Given the description of an element on the screen output the (x, y) to click on. 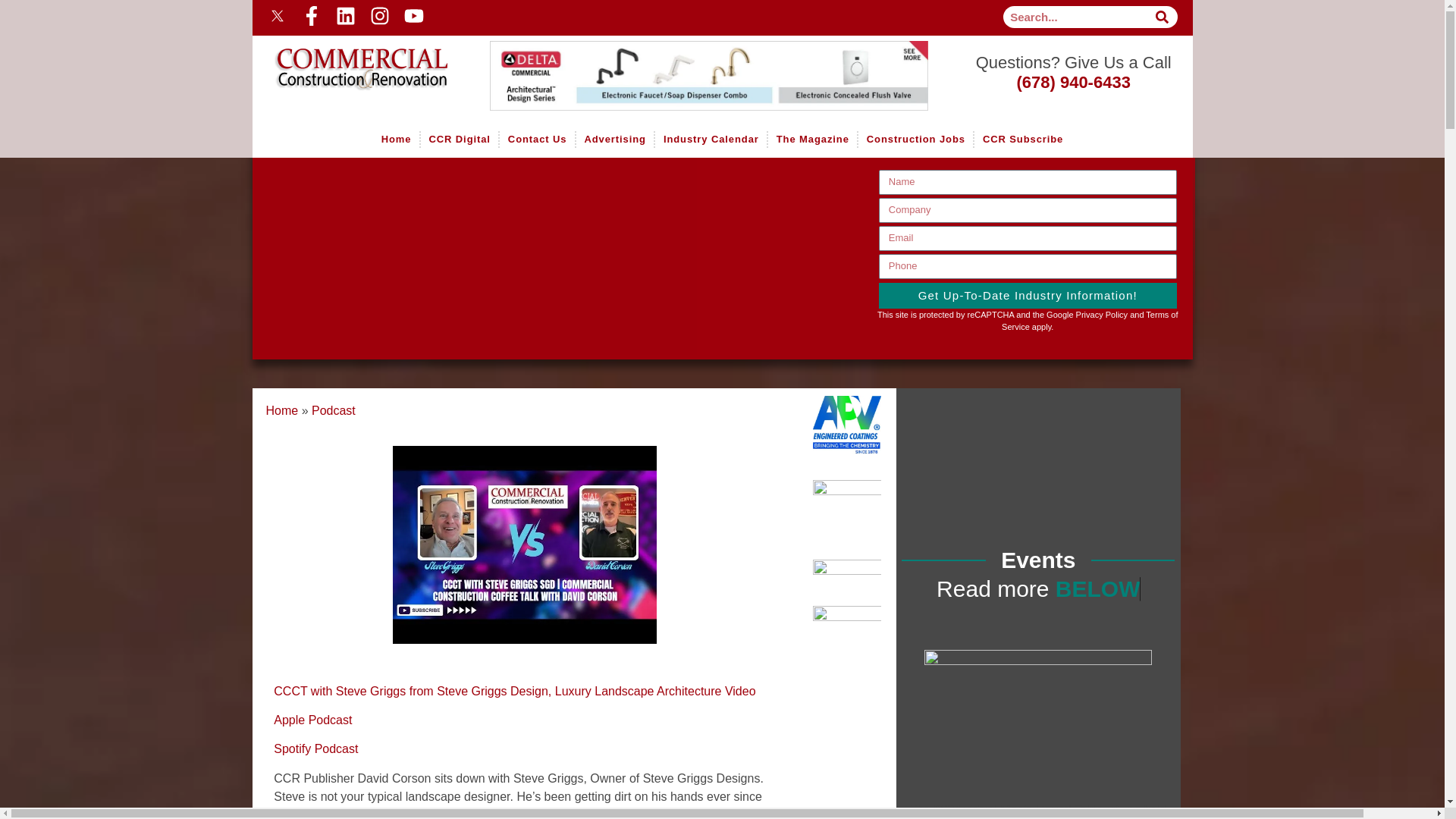
Social Media (486, 15)
Sponsors (718, 76)
Contact Us (537, 138)
Advertising (614, 138)
CCR Digital (459, 138)
Industry Calendar (710, 138)
Home (350, 58)
